Given the description of an element on the screen output the (x, y) to click on. 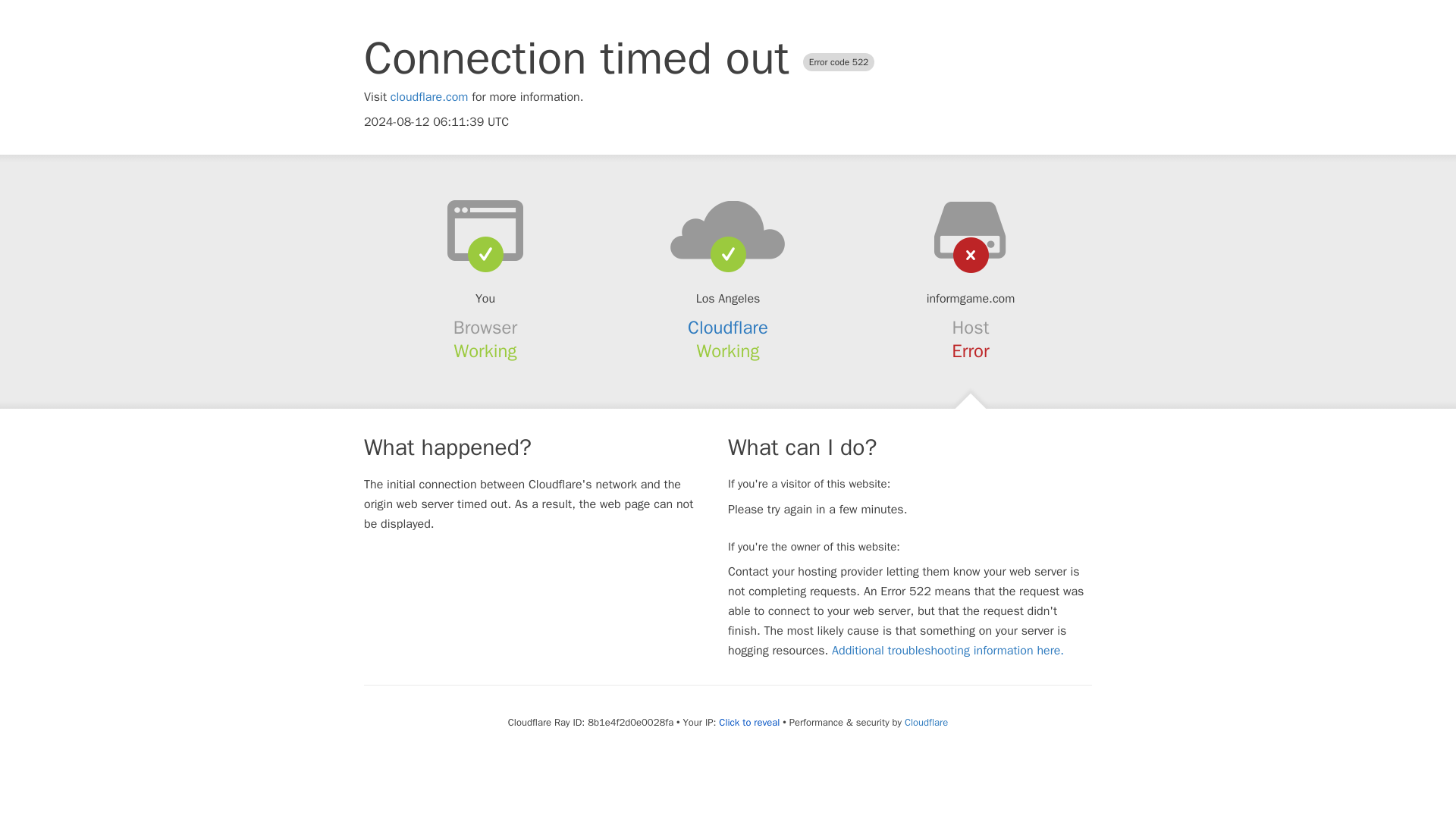
cloudflare.com (429, 96)
Additional troubleshooting information here. (947, 650)
Cloudflare (925, 721)
Cloudflare (727, 327)
Click to reveal (748, 722)
